Given the description of an element on the screen output the (x, y) to click on. 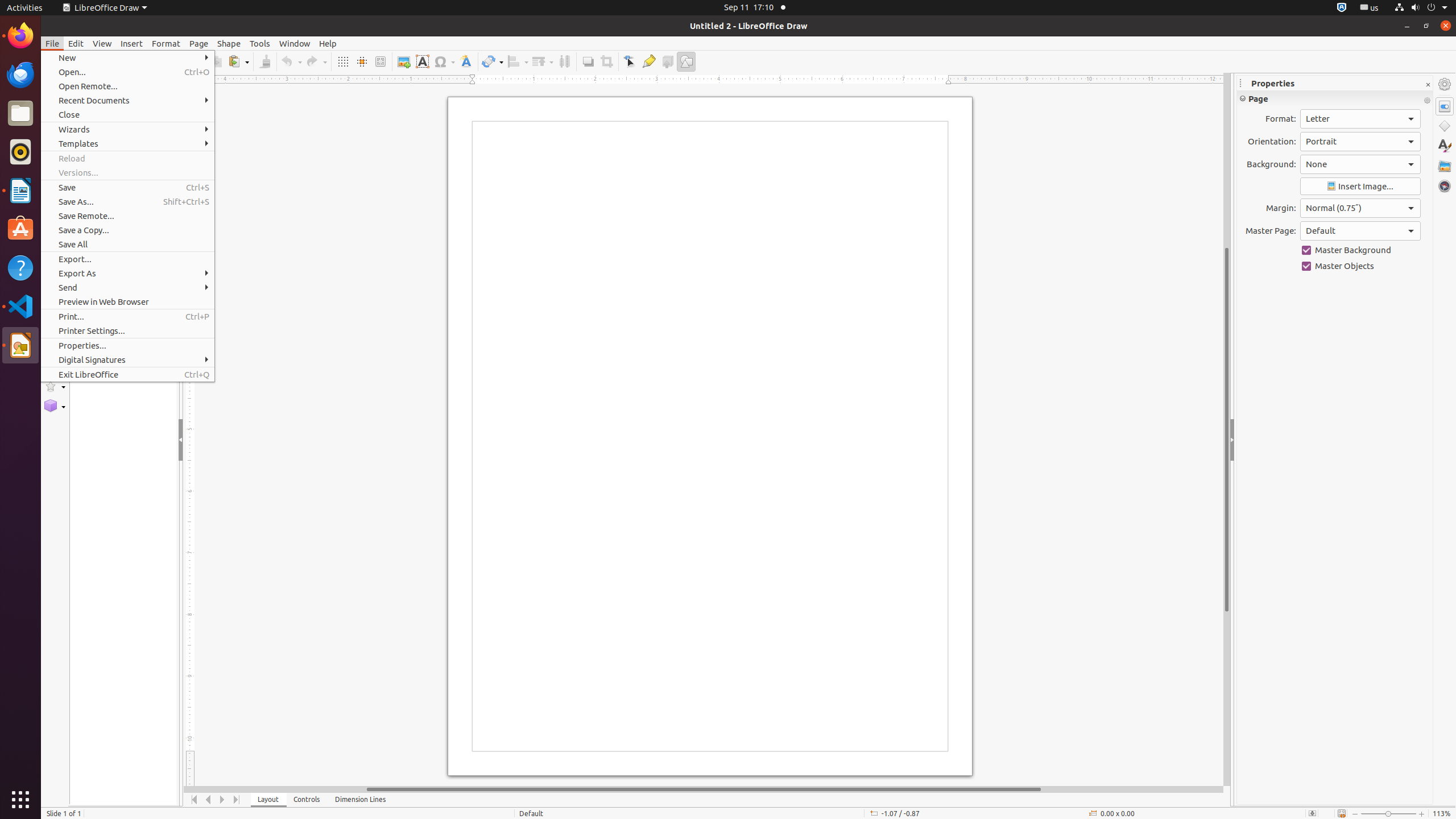
Save As... Element type: menu-item (127, 201)
Draw Functions Element type: toggle-button (685, 61)
Crop Element type: push-button (606, 61)
Margin: Element type: combo-box (1360, 207)
Page Element type: menu (198, 43)
